Given the description of an element on the screen output the (x, y) to click on. 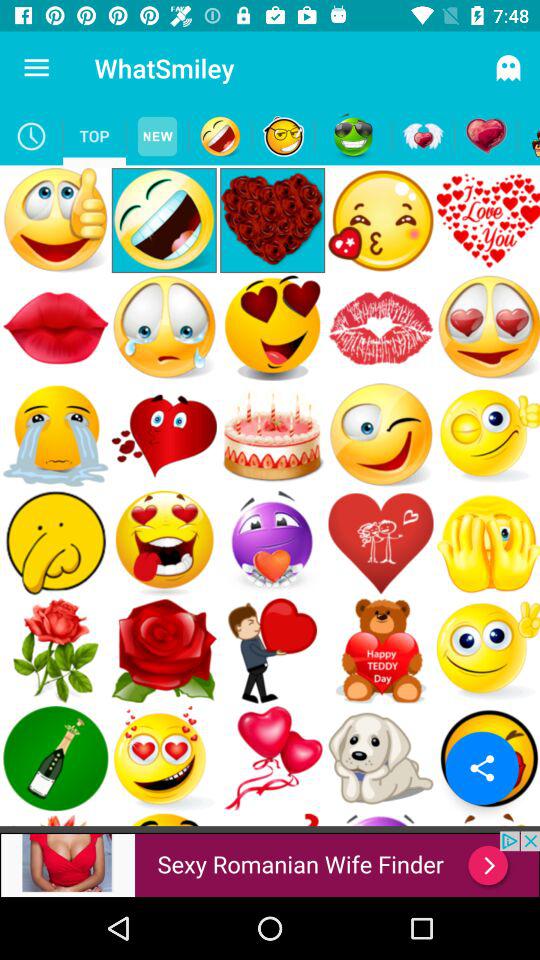
back button (528, 136)
